Given the description of an element on the screen output the (x, y) to click on. 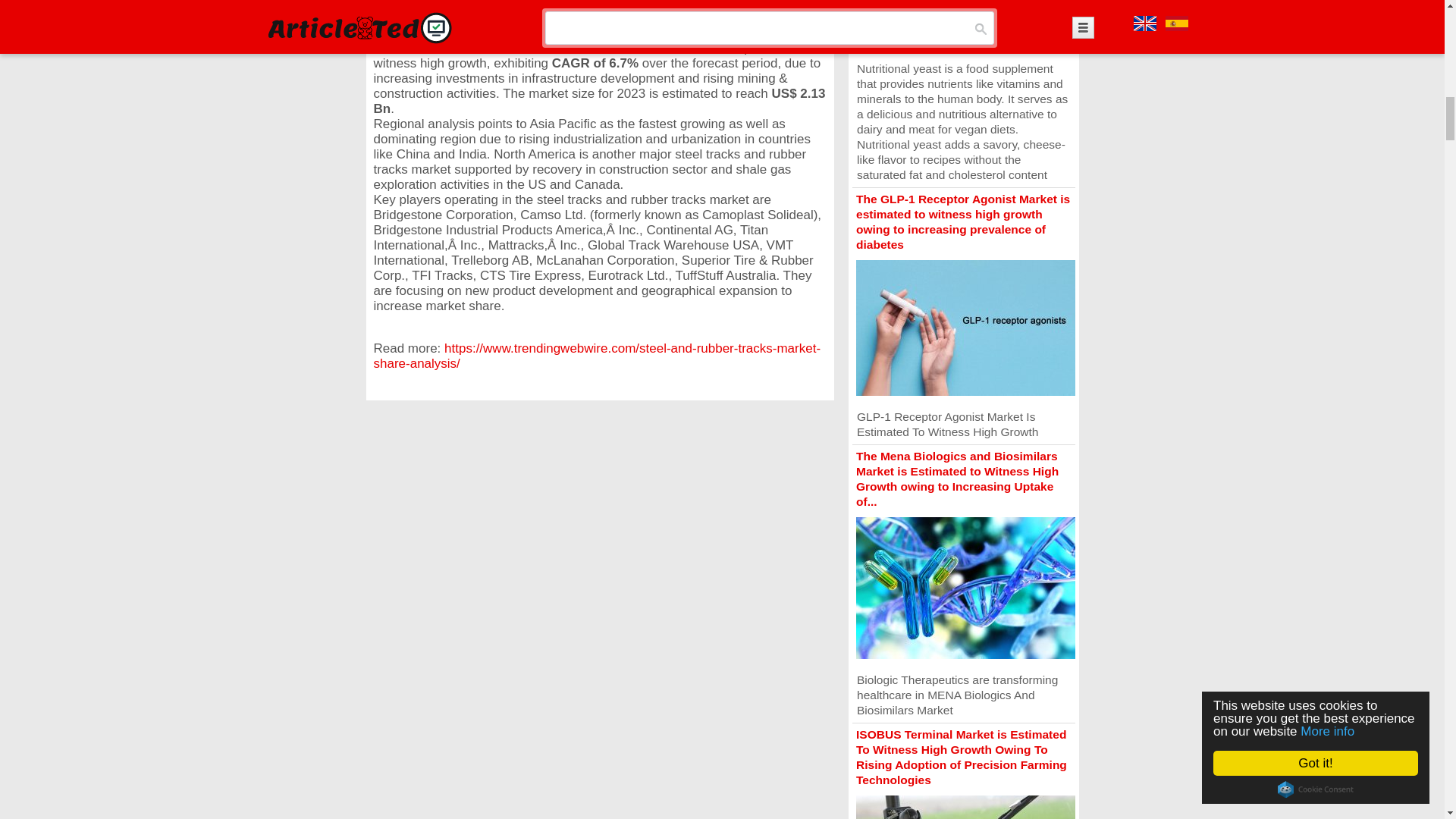
Global Steel Tracks And Rubber Tracks Market Size (556, 47)
